Given the description of an element on the screen output the (x, y) to click on. 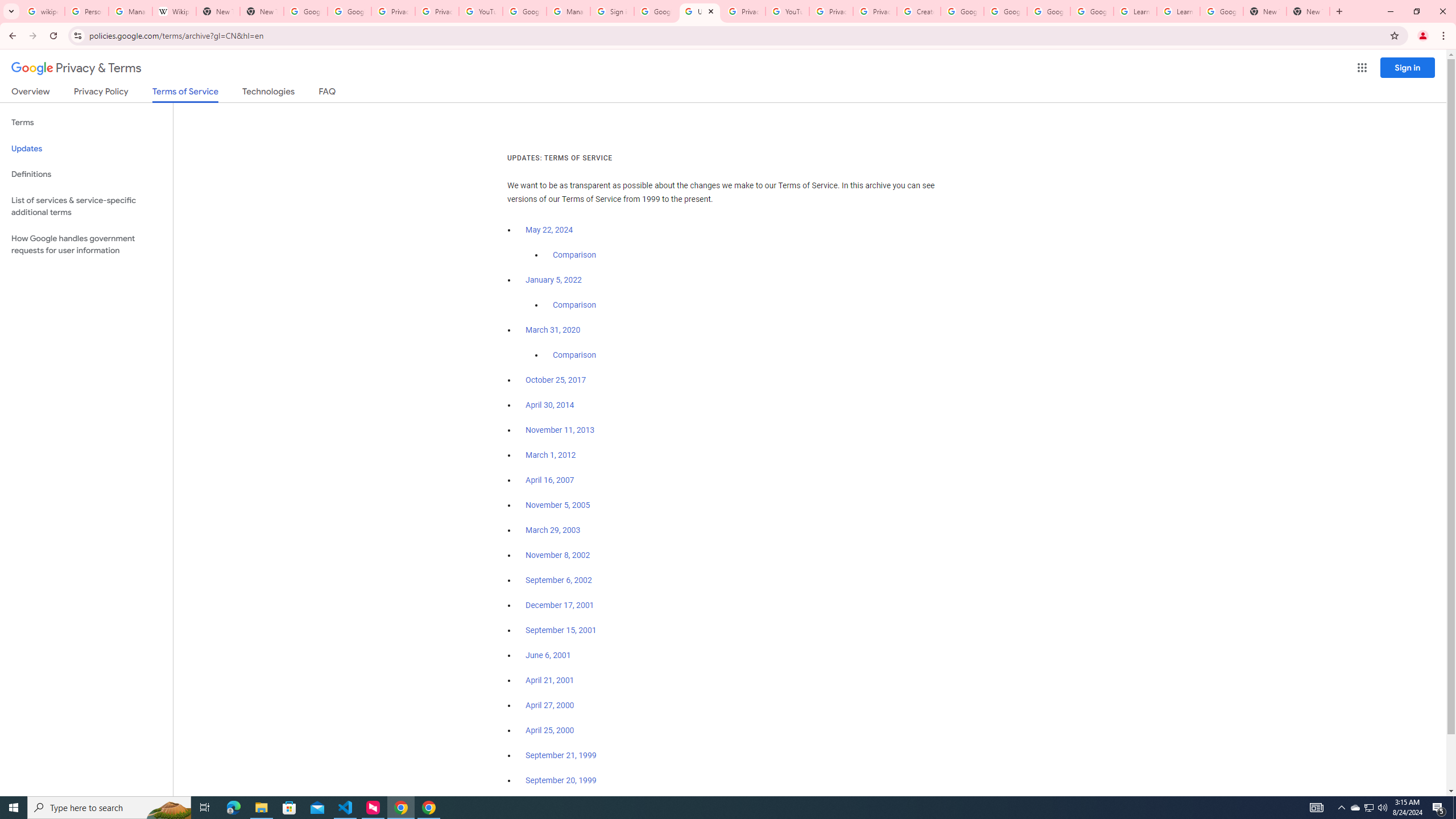
Privacy Policy (100, 93)
New Tab (1264, 11)
Technologies (268, 93)
May 22, 2024 (549, 230)
Privacy & Terms (76, 68)
September 6, 2002 (558, 579)
Create your Google Account (918, 11)
Google Account Help (1005, 11)
New Tab (1308, 11)
